Given the description of an element on the screen output the (x, y) to click on. 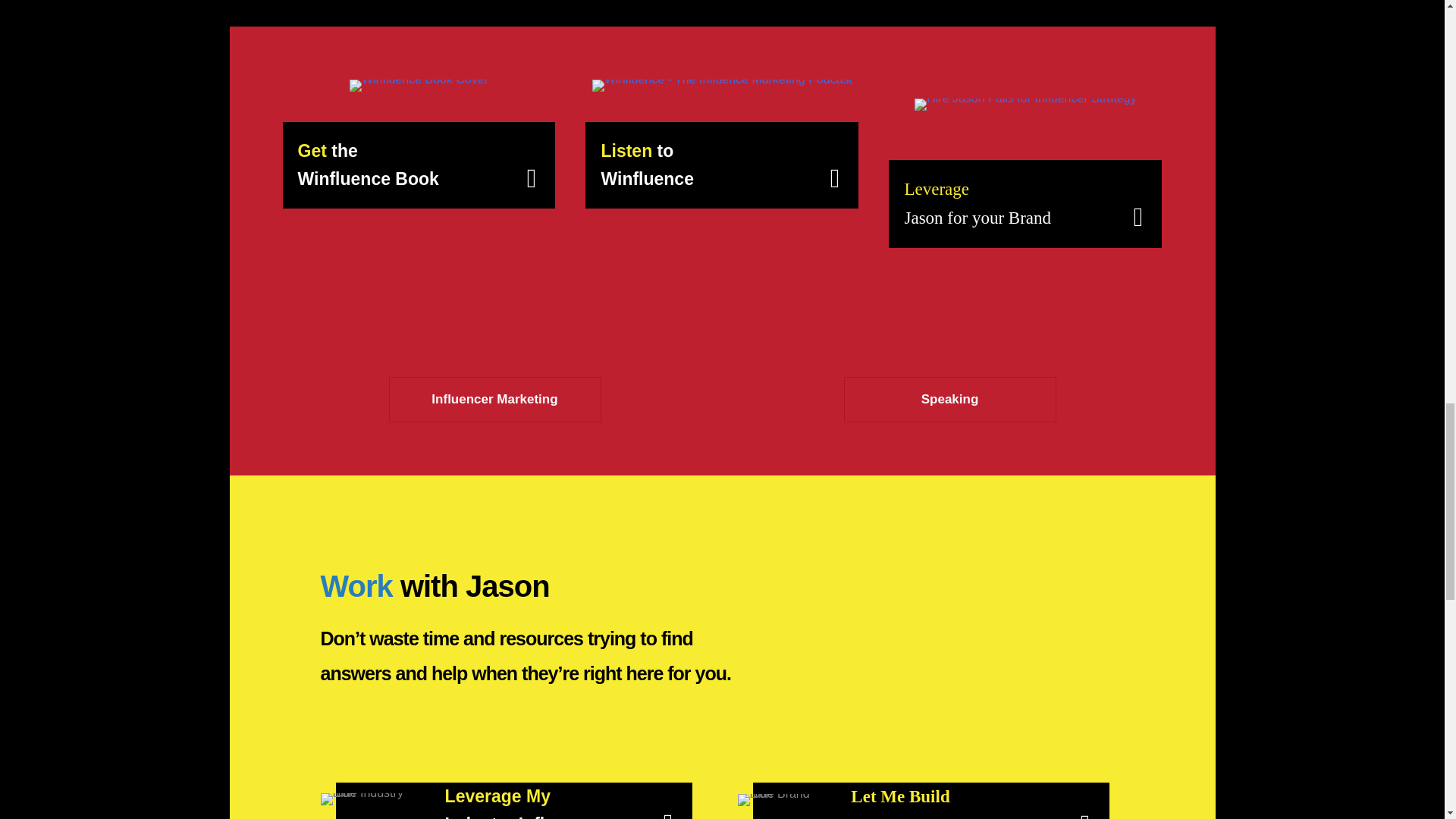
winfluence (721, 85)
JF-2020-NaturalSmile (1025, 104)
Winfluence Book by Jason Falls (418, 85)
Speaking (949, 399)
Industry Icon (366, 806)
Influencer Marketing (493, 399)
Brand Icon (778, 806)
